Given the description of an element on the screen output the (x, y) to click on. 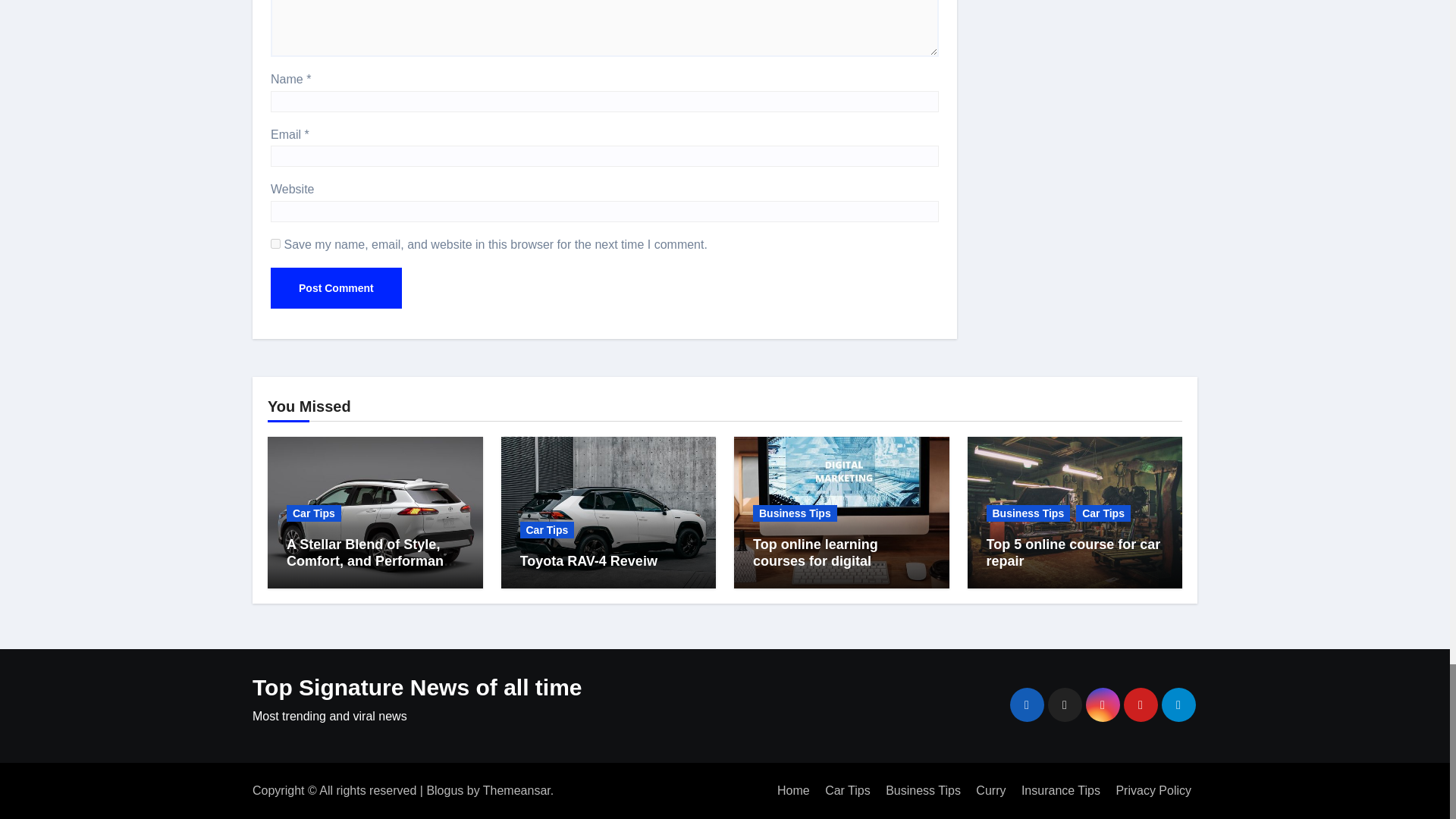
Home (793, 790)
Permalink to: Top 5 online course for car repair (1072, 552)
Permalink to: Toyota RAV-4 Reveiw (588, 560)
yes (275, 243)
Post Comment (335, 287)
